Given the description of an element on the screen output the (x, y) to click on. 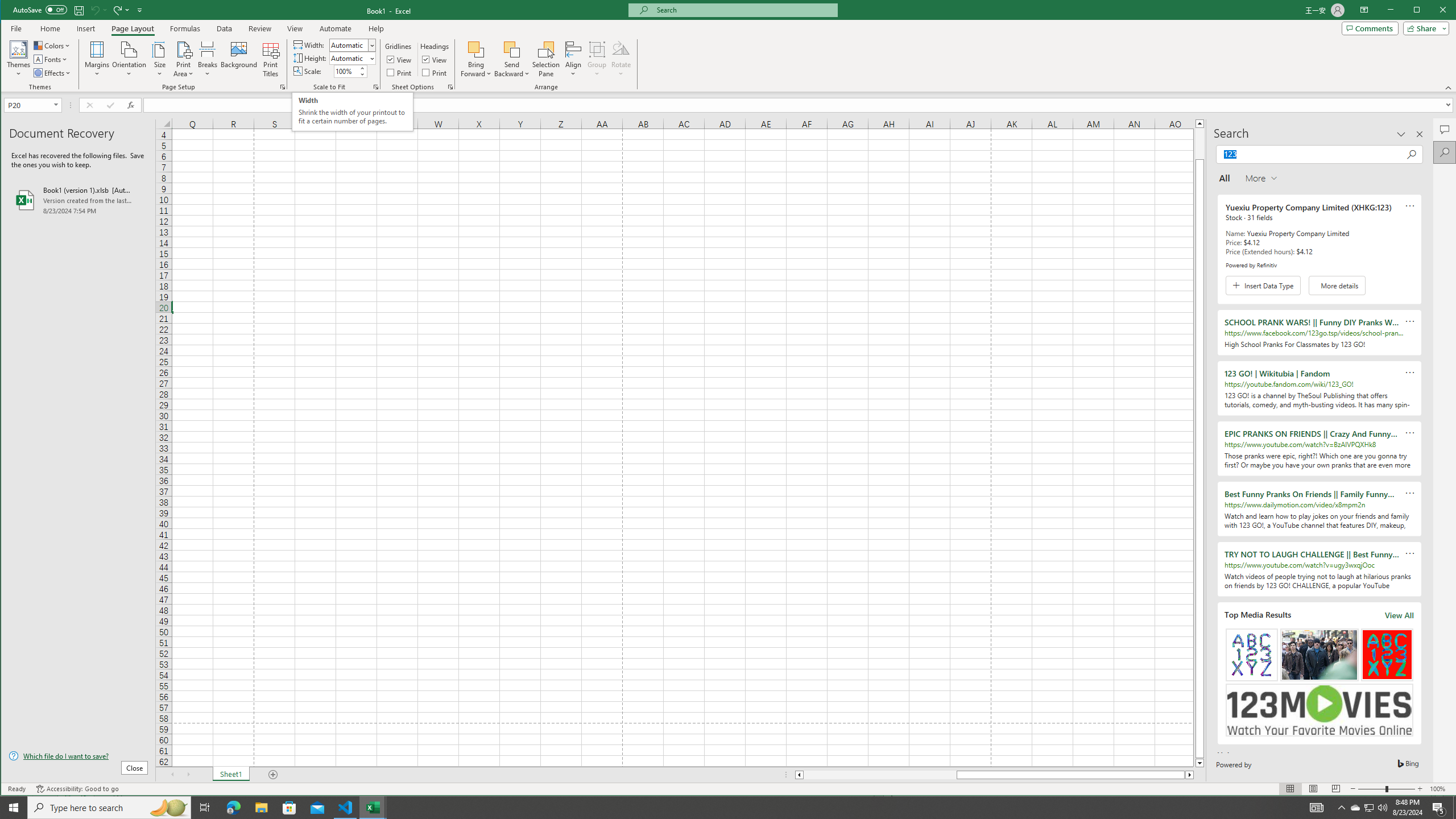
Type here to search (108, 807)
Page left (879, 774)
Align (573, 59)
Height (349, 58)
Scale (345, 71)
Page up (1368, 807)
Height (1199, 142)
